Given the description of an element on the screen output the (x, y) to click on. 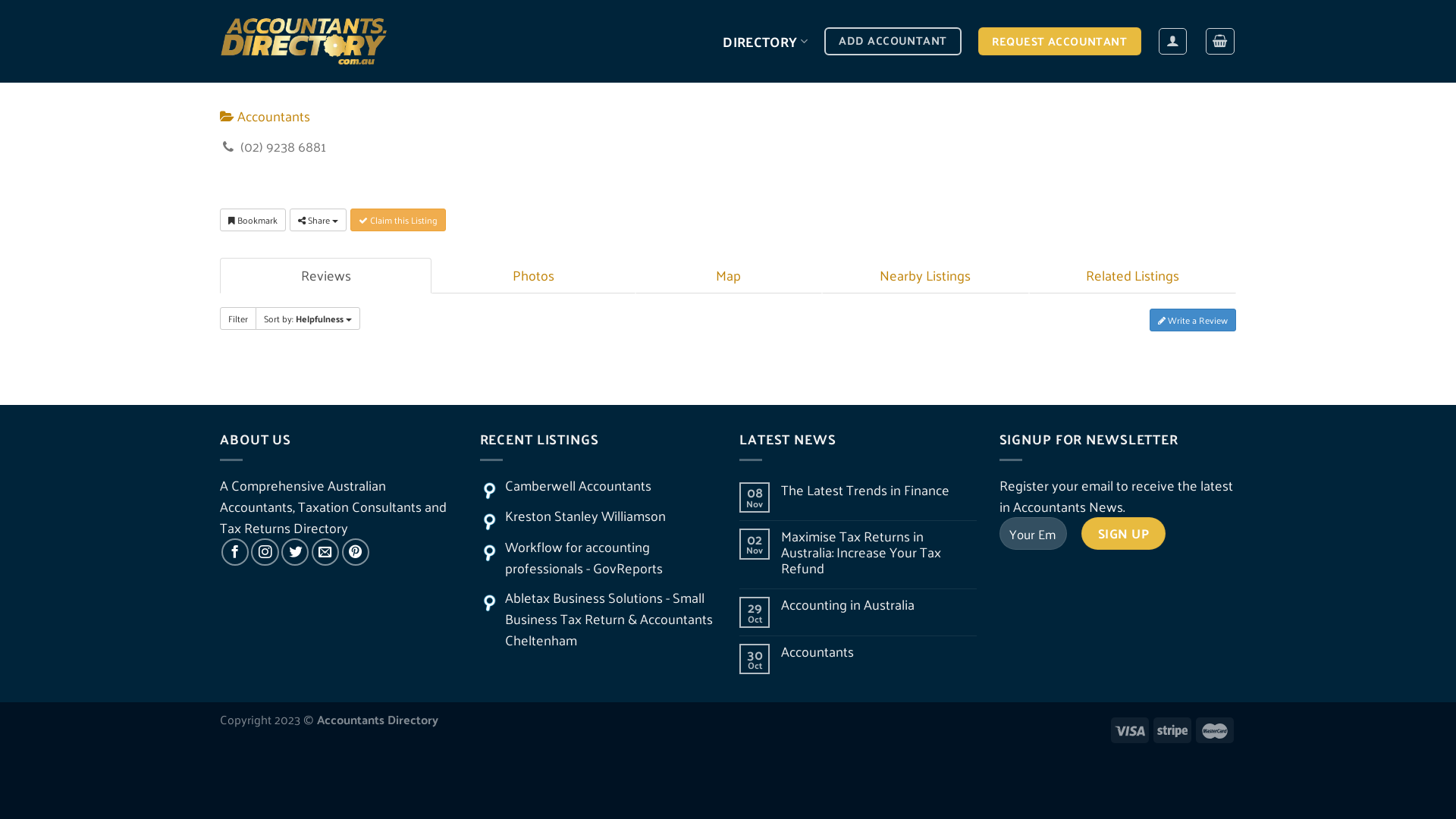
Accountants Directory Element type: hover (303, 41)
Follow on Instagram Element type: hover (264, 551)
Filter Element type: text (237, 318)
Claim this Listing Element type: text (397, 219)
Nearby Listings Element type: text (925, 275)
Map Element type: text (728, 275)
Photos Element type: text (532, 275)
Sort by: Helpfulness Element type: text (307, 318)
Kreston Stanley Williamson Element type: text (585, 515)
ADD ACCOUNTANT Element type: text (892, 40)
Workflow for accounting professionals - GovReports Element type: text (583, 557)
Send us an email Element type: hover (324, 551)
Follow on Facebook Element type: hover (234, 551)
Follow on Pinterest Element type: hover (355, 551)
Reviews Element type: text (325, 275)
Related Listings Element type: text (1132, 275)
Write a Review Element type: text (1192, 319)
Share Element type: text (317, 219)
DIRECTORY Element type: text (764, 41)
The Latest Trends in Finance Element type: text (878, 490)
Camberwell Accountants Element type: text (578, 485)
Follow on Twitter Element type: hover (294, 551)
Cart Element type: hover (1219, 41)
Sign Up Element type: text (1123, 533)
Accounting in Australia Element type: text (878, 604)
Bookmark Element type: text (252, 219)
Accountants Element type: text (878, 651)
REQUEST ACCOUNTANT Element type: text (1059, 41)
Accountants Element type: text (264, 115)
Maximise Tax Returns in Australia: Increase Your Tax Refund Element type: text (878, 552)
